Given the description of an element on the screen output the (x, y) to click on. 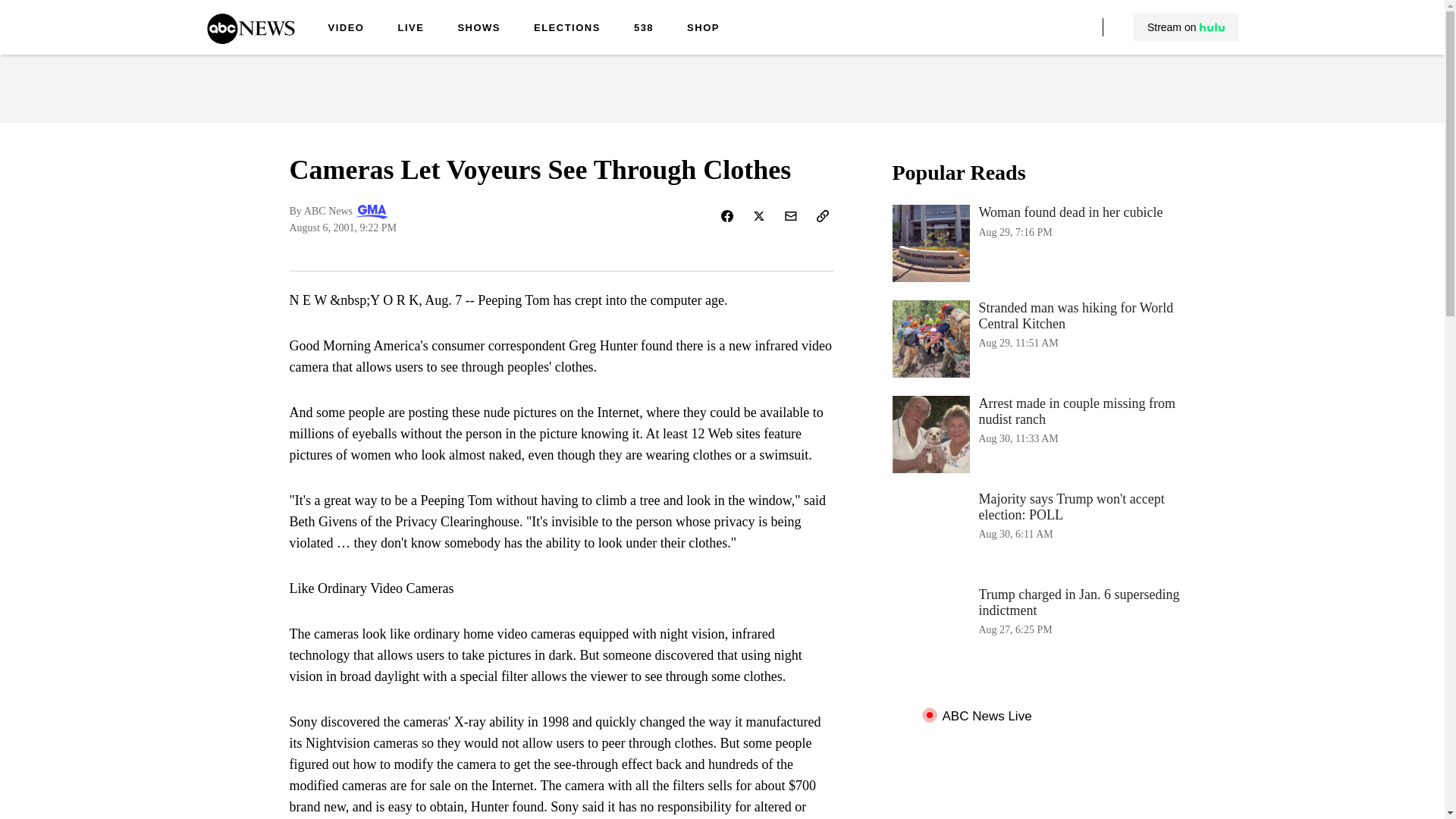
VIDEO (345, 28)
Stream on (1043, 242)
Stream on (1185, 27)
ABC News (1186, 26)
SHOWS (250, 38)
LIVE (478, 28)
ELECTIONS (410, 28)
